Given the description of an element on the screen output the (x, y) to click on. 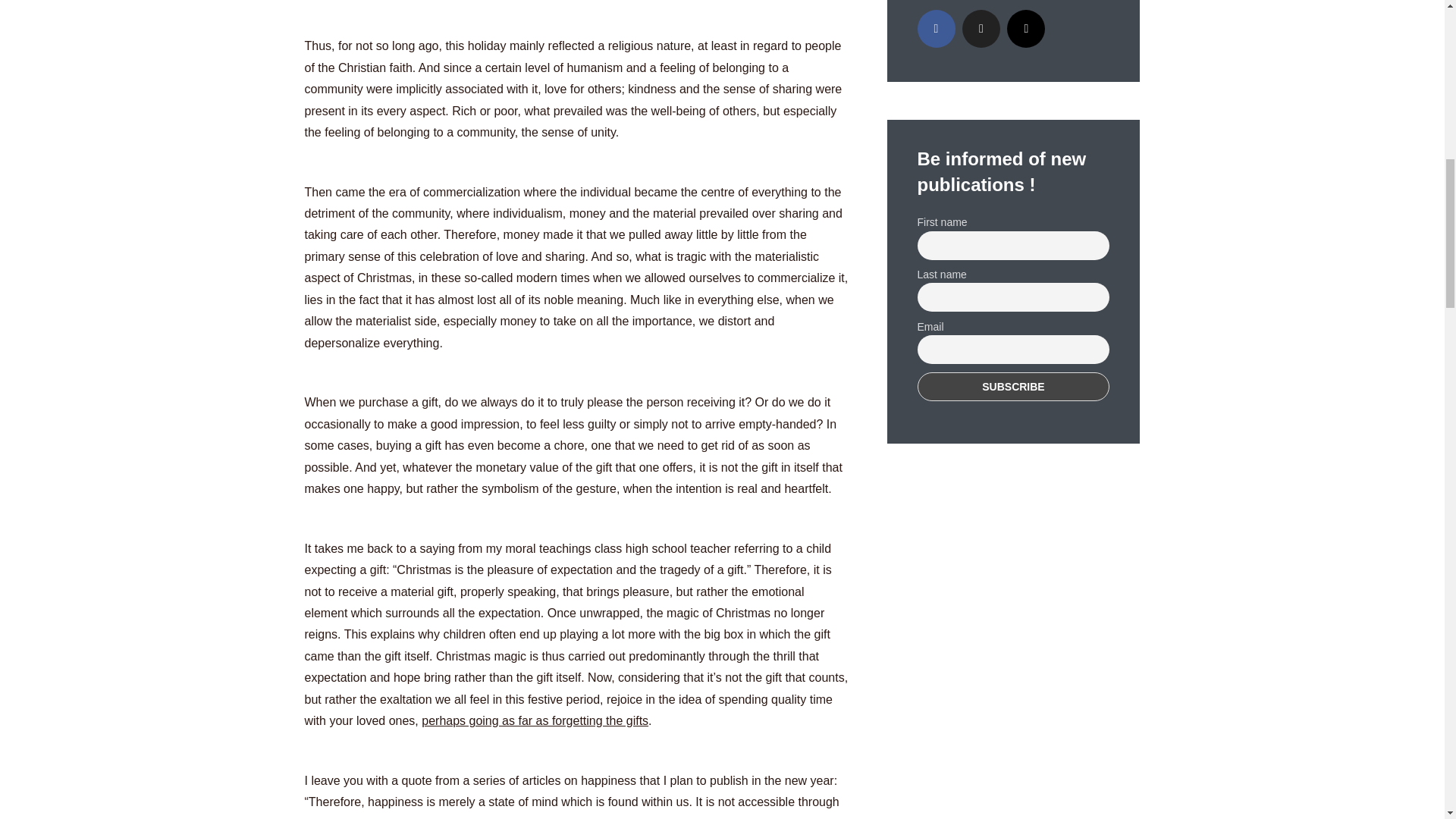
Instagram (1026, 28)
Facebook (936, 28)
Subscribe (1013, 386)
